Given the description of an element on the screen output the (x, y) to click on. 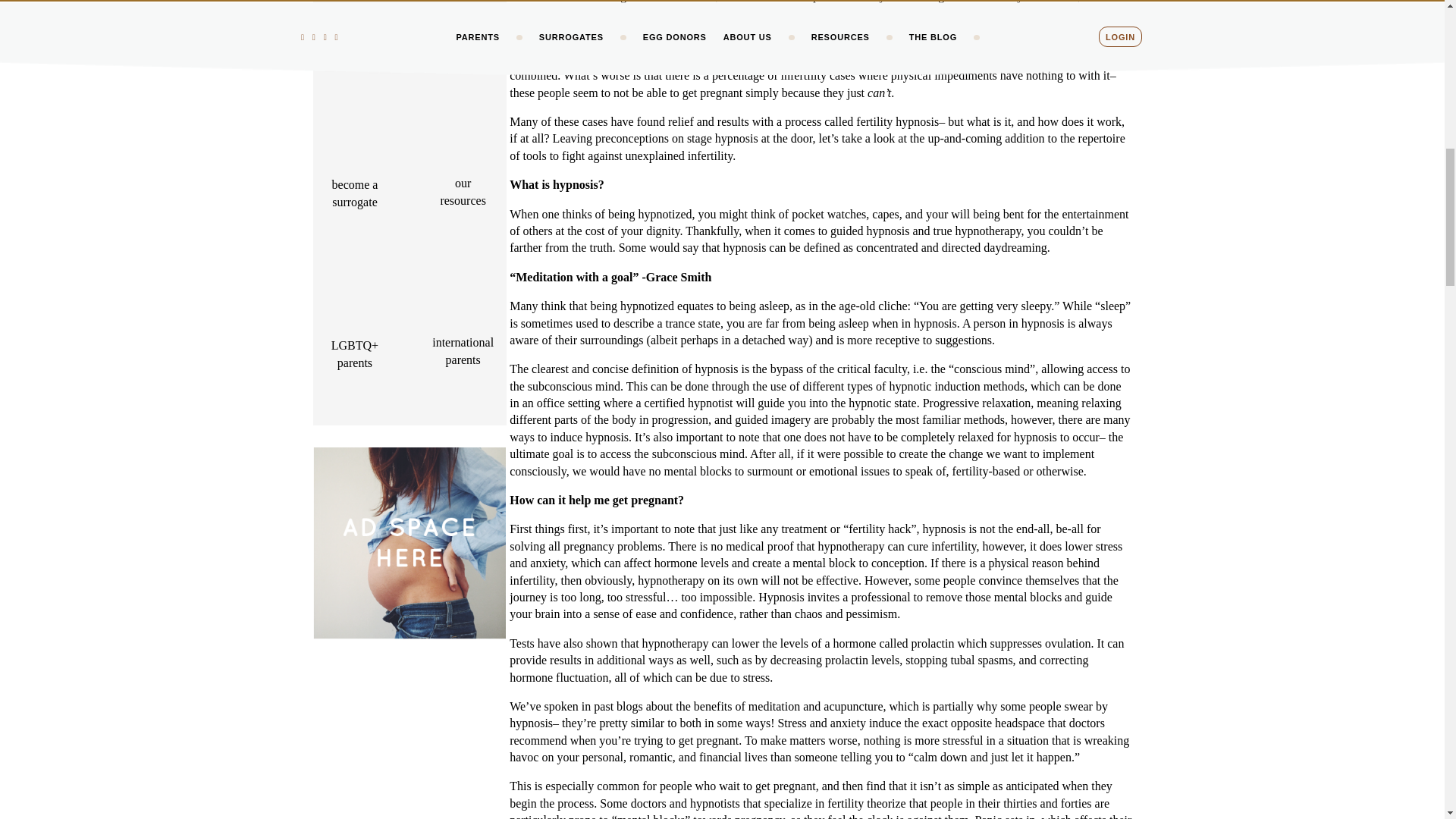
our (462, 182)
adSpace (409, 543)
resources (461, 200)
